Given the description of an element on the screen output the (x, y) to click on. 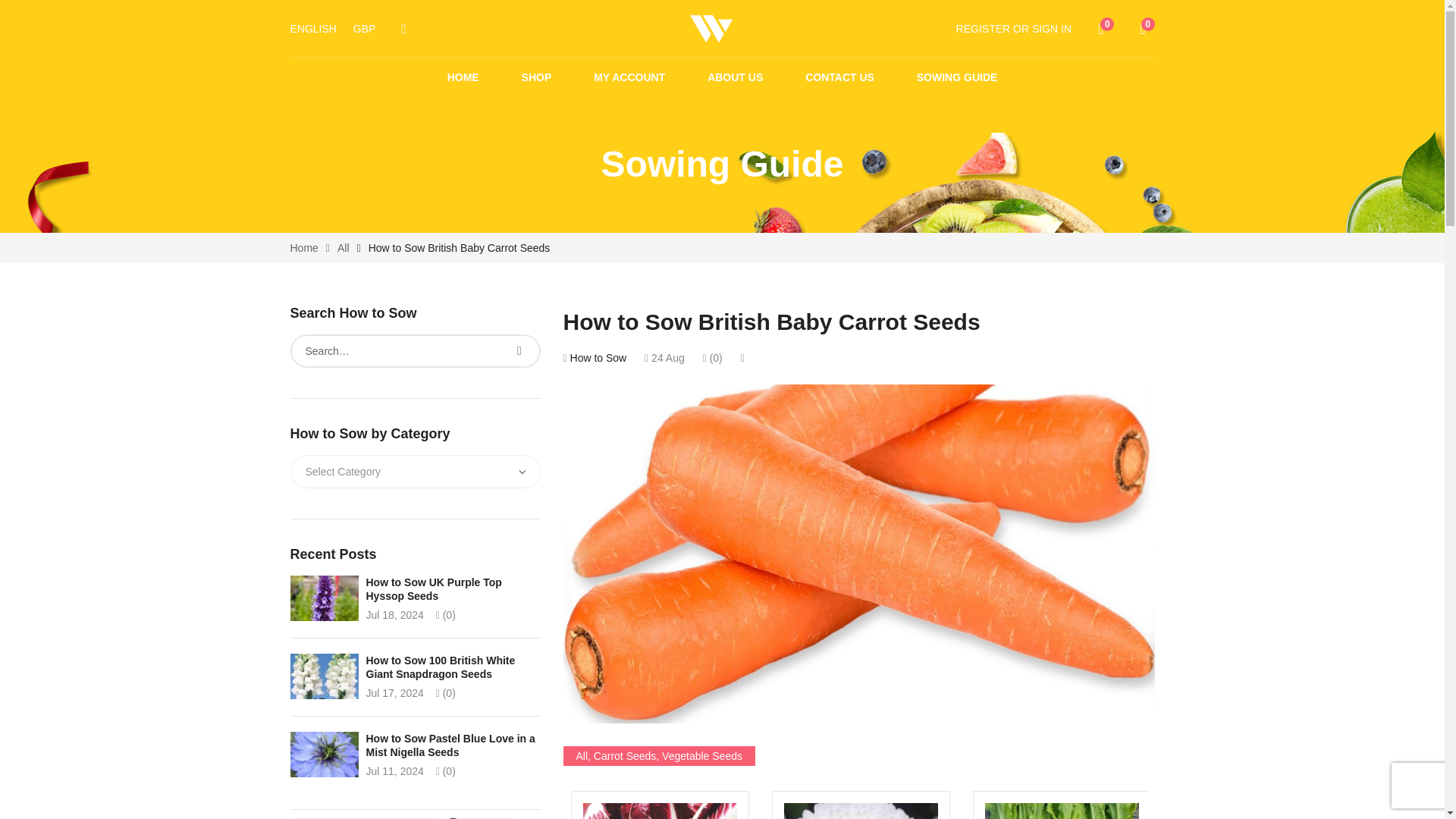
0 (1147, 28)
SHOP (536, 77)
CONTACT US (840, 77)
ENGLISH (312, 28)
SOWING GUIDE (957, 77)
HOME (1013, 28)
0 (462, 77)
MY ACCOUNT (1105, 28)
ABOUT US (629, 77)
GBP (734, 77)
